Given the description of an element on the screen output the (x, y) to click on. 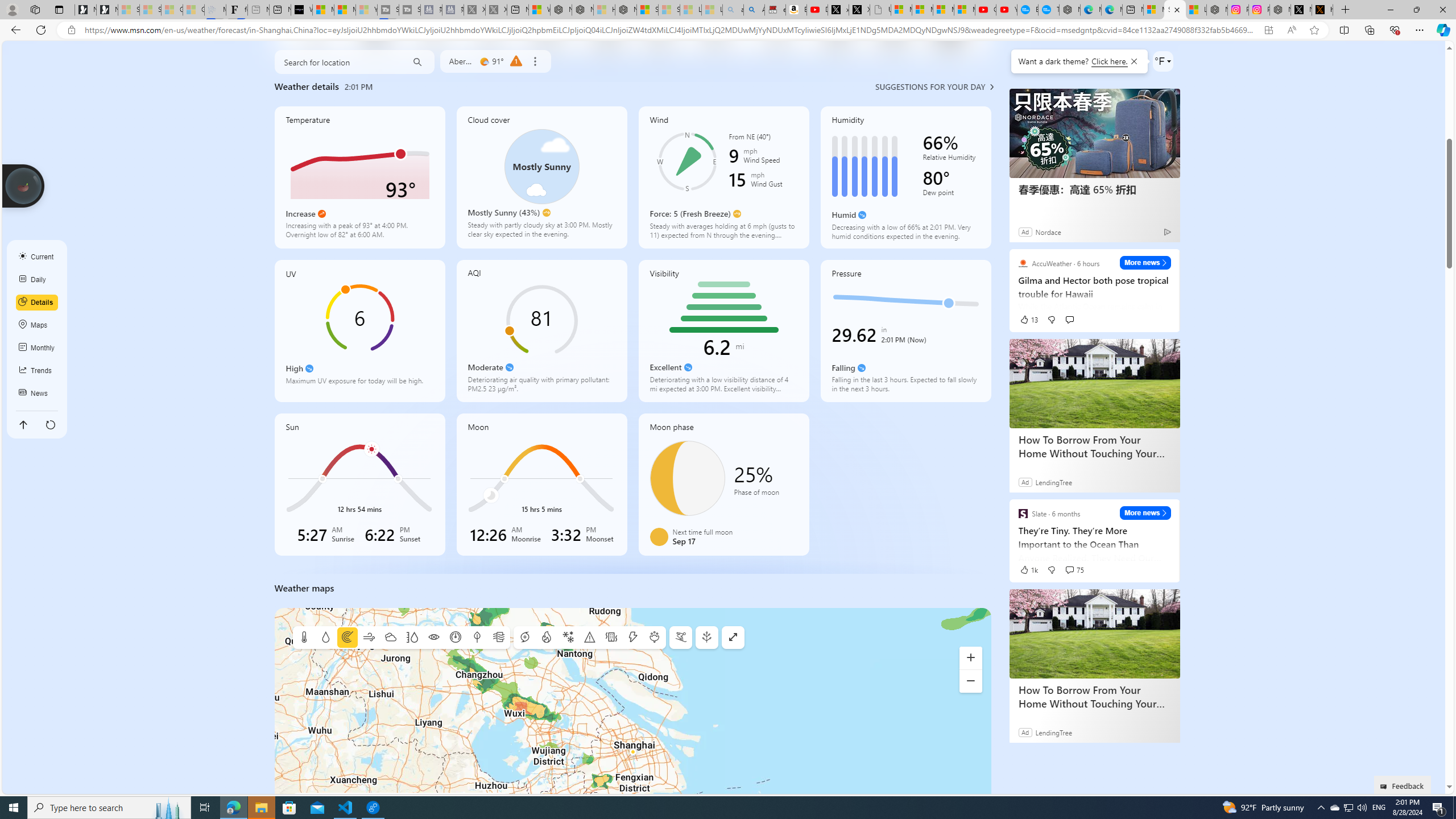
Dew point (951, 194)
Weather settings Want a dark theme?Click here. (1162, 61)
help.x.com | 524: A timeout occurred (1322, 9)
Join us in planting real trees to help our planet! (23, 185)
Class: BubbleMessageCloseIcon-DS-EntryPoint1-1 (1133, 61)
Increase (321, 213)
Suggestions for your day (930, 86)
